Given the description of an element on the screen output the (x, y) to click on. 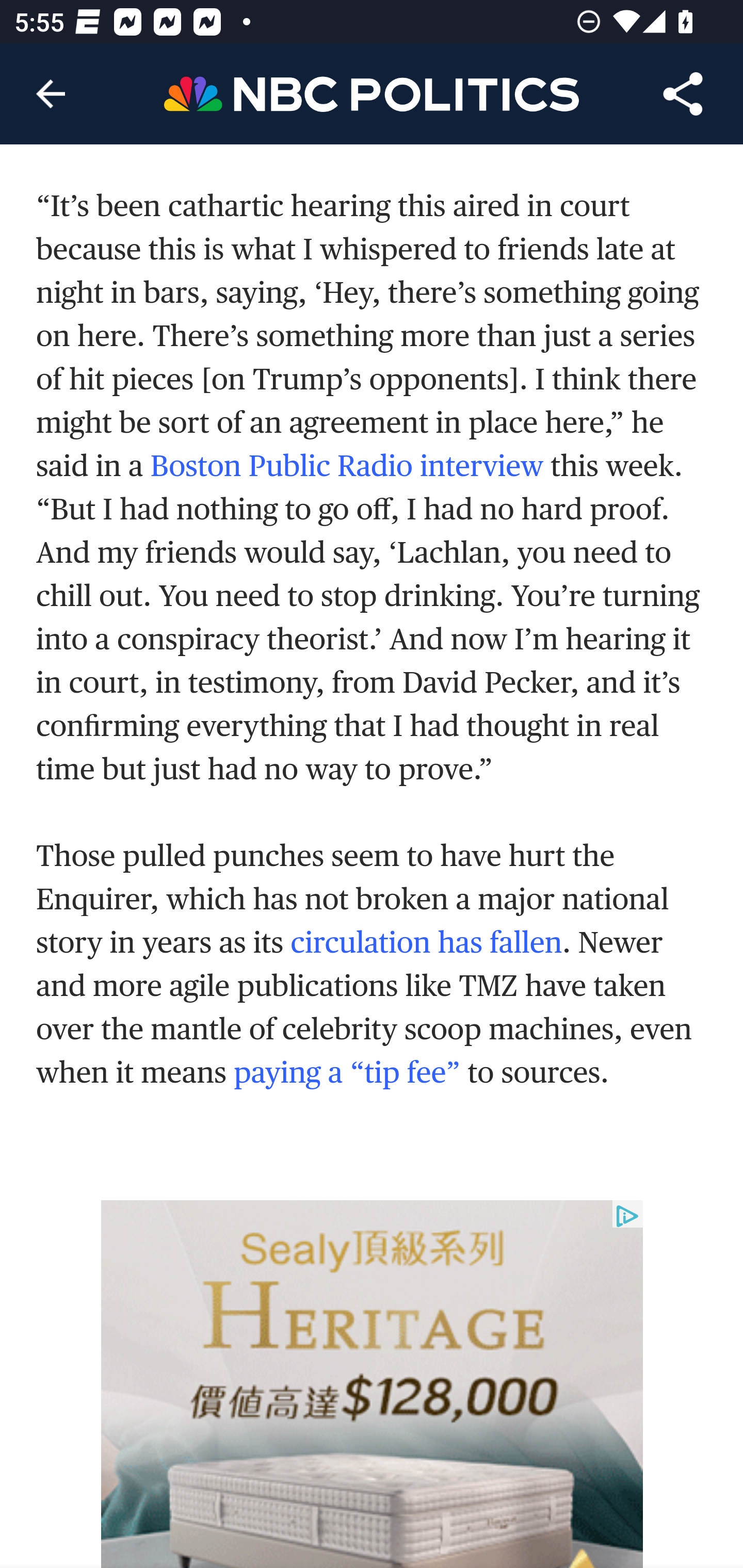
Navigate up (50, 93)
Share Article, button (683, 94)
Header, NBC Politics (371, 93)
Boston Public Radio interview (347, 466)
circulation has fallen (426, 941)
paying a “tip fee” (347, 1071)
adchoices (626, 1217)
